Given the description of an element on the screen output the (x, y) to click on. 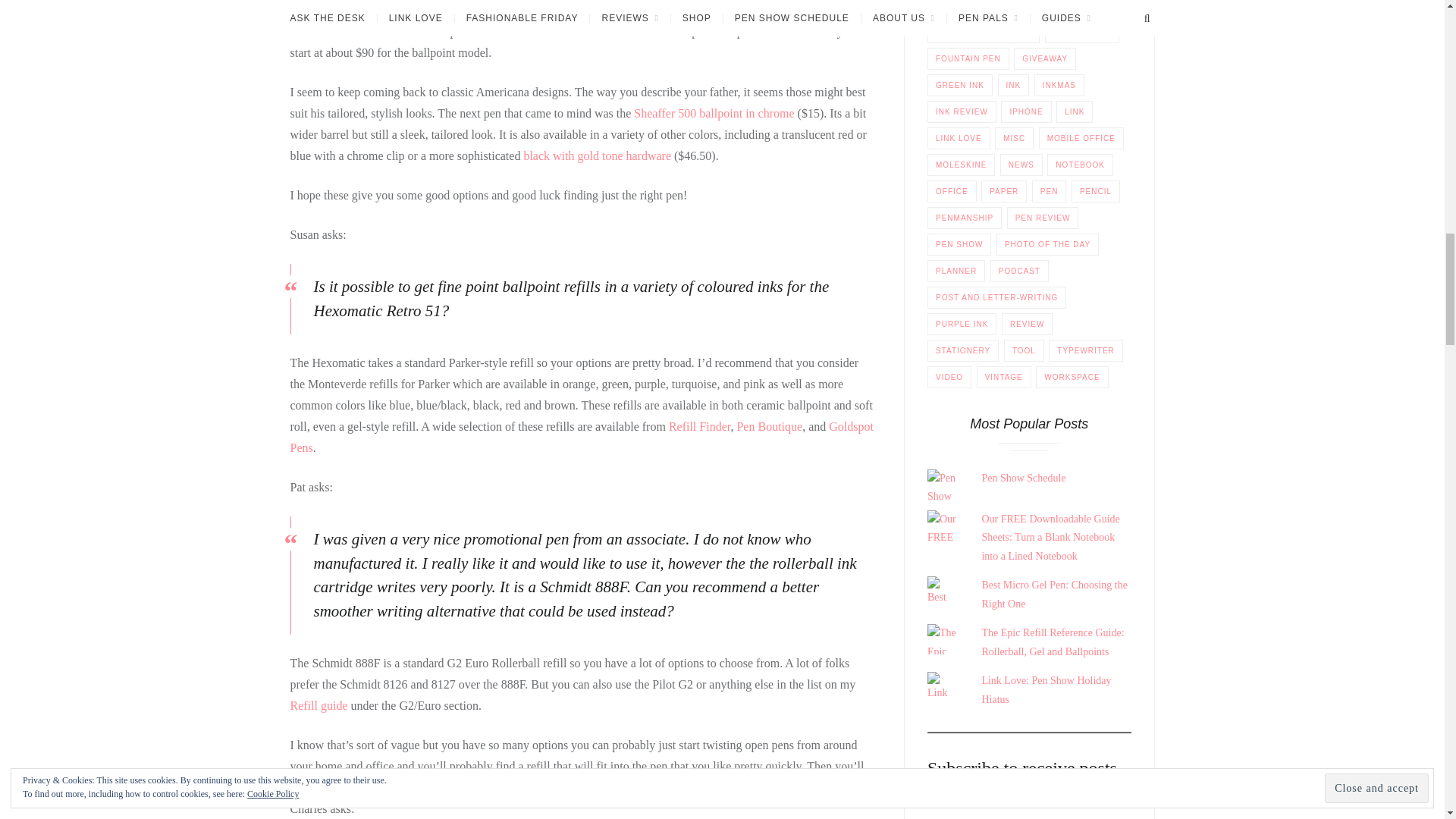
Refill Finder (699, 426)
Pen Boutique (769, 426)
Pen Show Schedule (1023, 543)
Sheaffer 500 ballpoint in chrome (713, 113)
Refill guide (318, 705)
black with gold tone hardware (596, 155)
Goldspot Pens (580, 437)
Best Micro Gel Pen: Choosing the Right One (1053, 594)
